Given the description of an element on the screen output the (x, y) to click on. 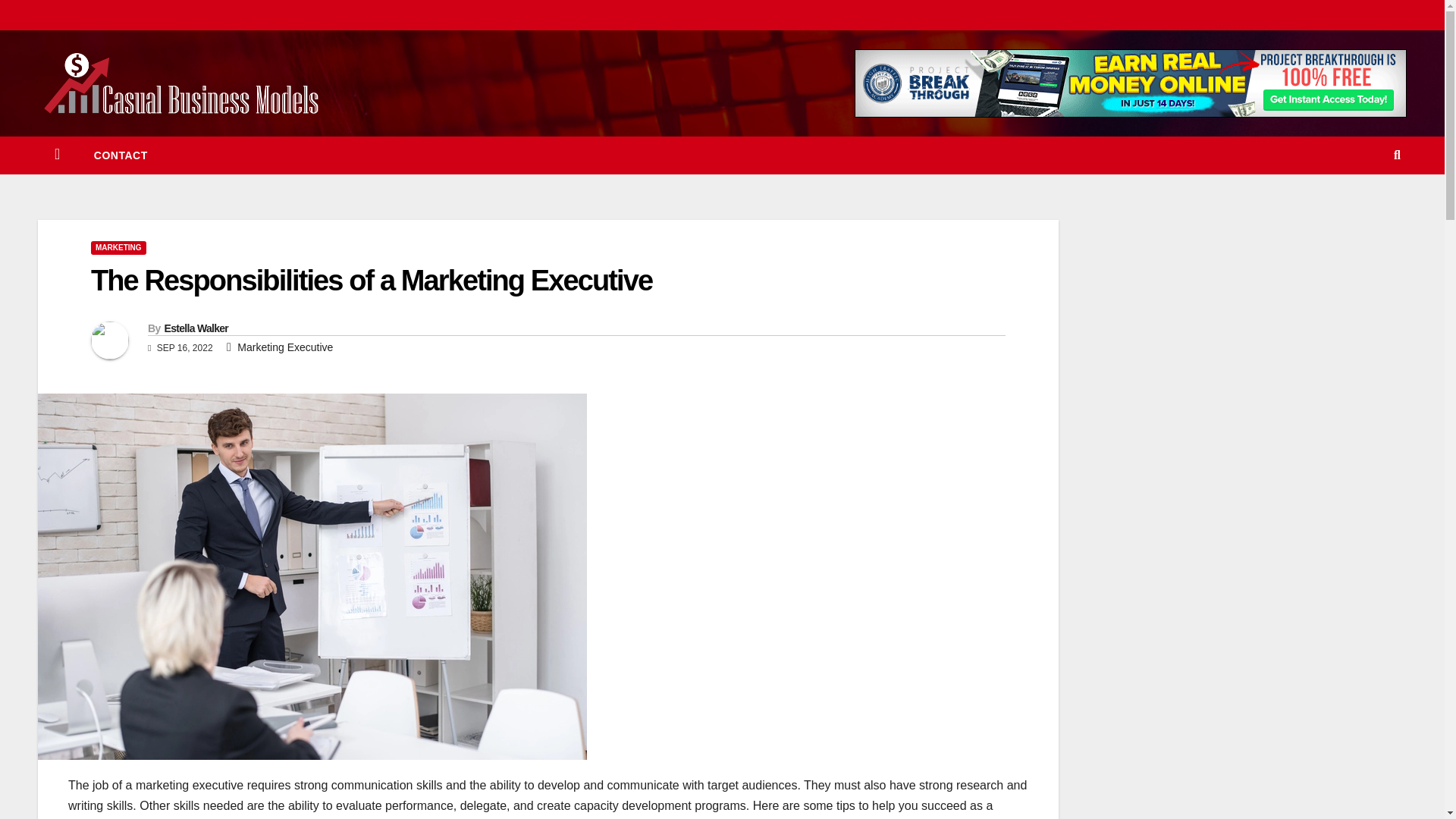
Marketing Executive (285, 346)
Estella Walker (195, 328)
MARKETING (118, 247)
CONTACT (120, 155)
The Responsibilities of a Marketing Executive (371, 280)
Permalink to: The Responsibilities of a Marketing Executive (371, 280)
Contact (120, 155)
